Given the description of an element on the screen output the (x, y) to click on. 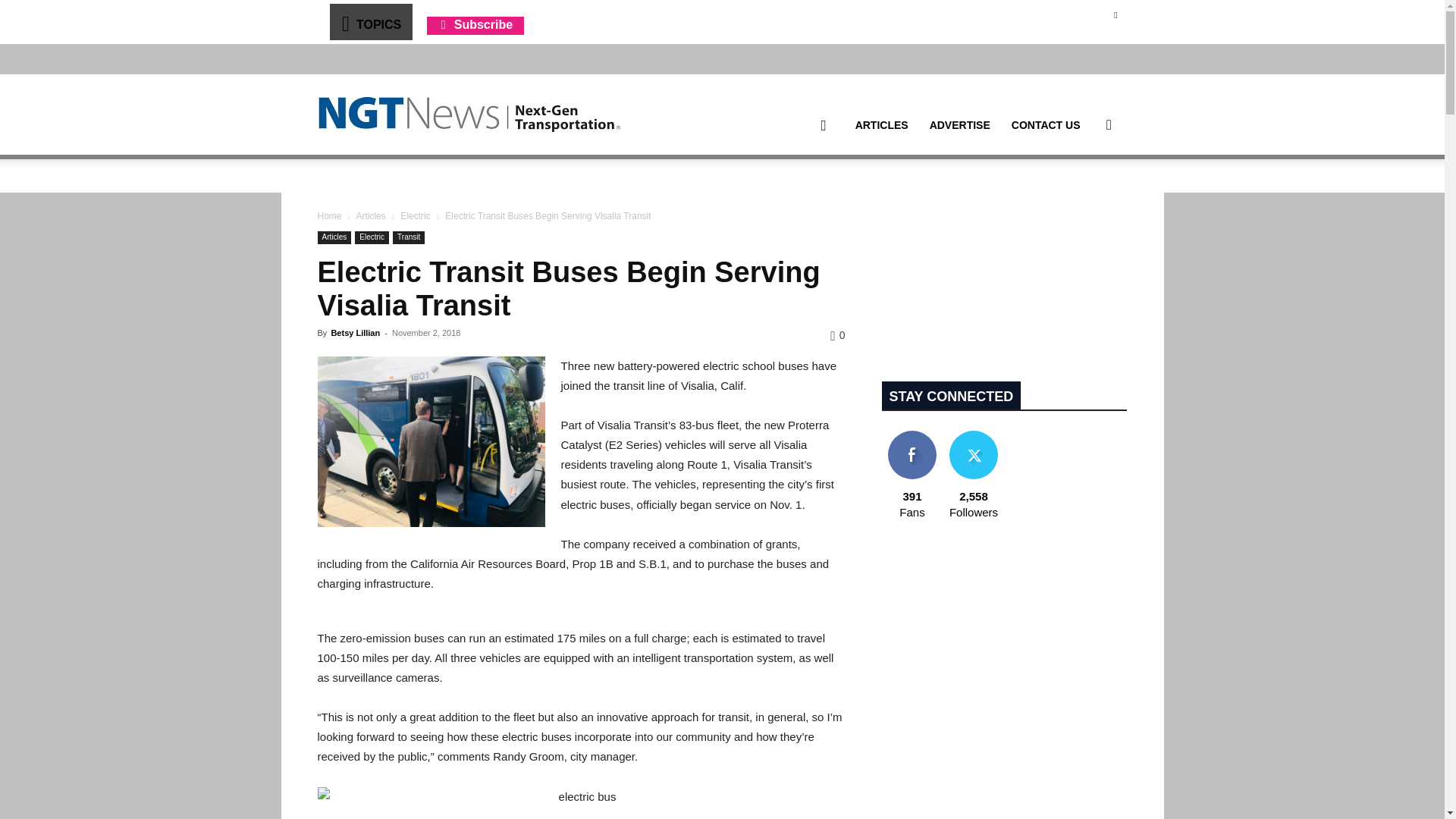
Twitter (1114, 14)
Search (1085, 197)
NGT News (468, 114)
ARTICLES (881, 124)
Alternative Fuel News, CNG News (468, 114)
Subscribe (475, 24)
TOPICS (370, 22)
